Given the description of an element on the screen output the (x, y) to click on. 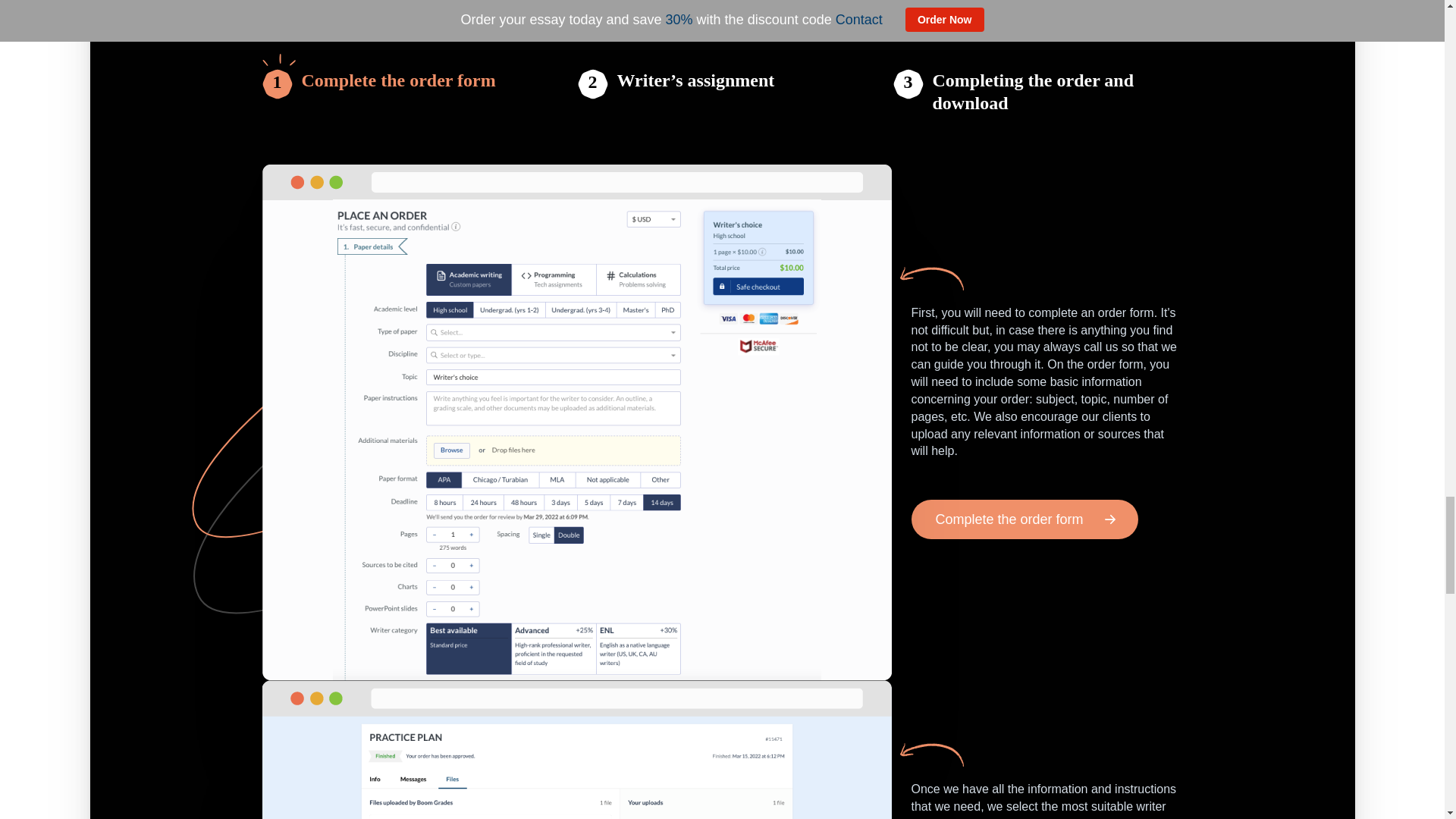
Completing the order and download (1057, 91)
Complete the order form (398, 91)
Complete the order form (1024, 518)
